Given the description of an element on the screen output the (x, y) to click on. 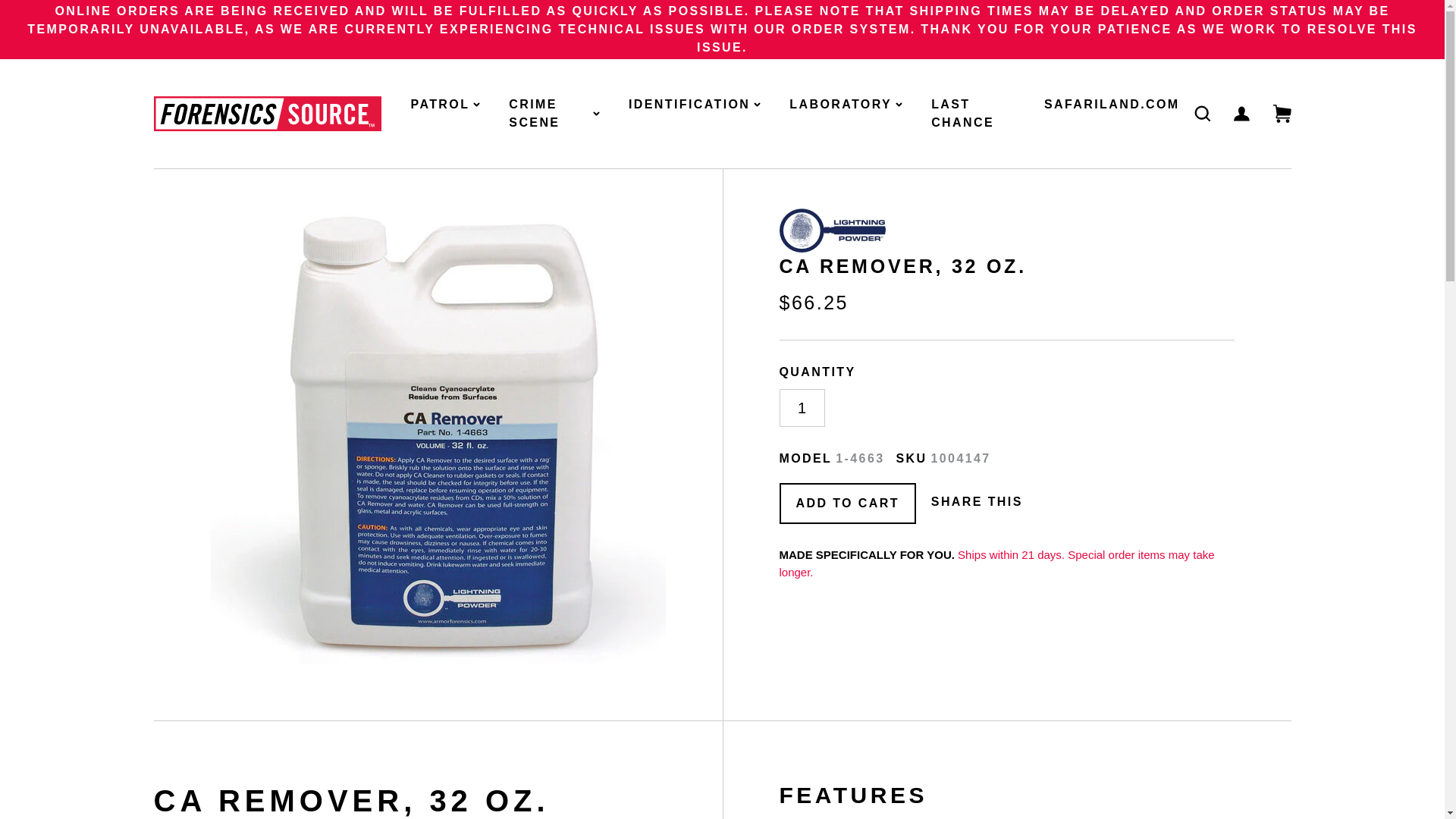
Forensics Source (266, 113)
CRIME SCENE (554, 113)
PATROL (445, 104)
1 (801, 407)
